Given the description of an element on the screen output the (x, y) to click on. 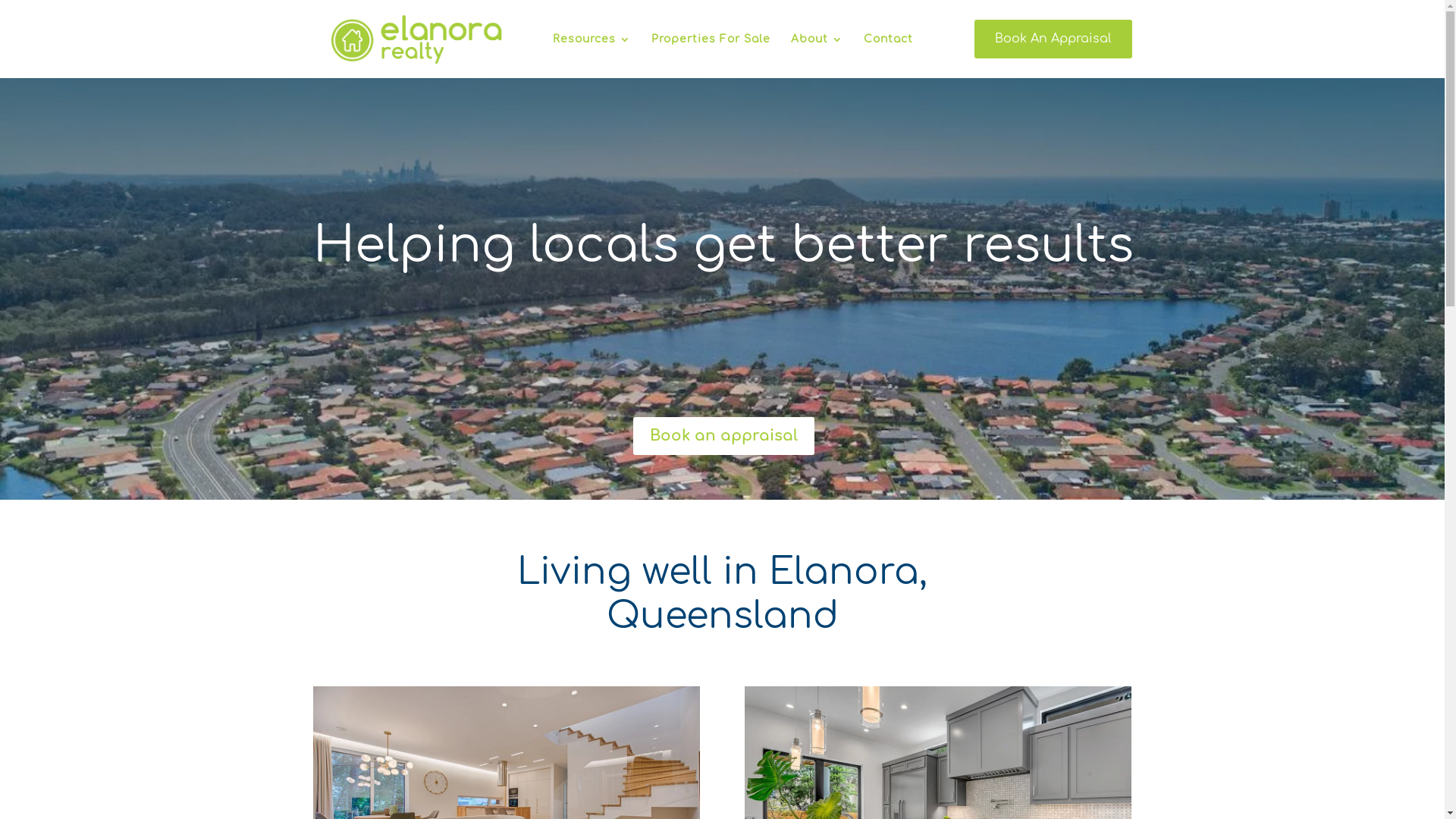
Book An Appraisal Element type: text (1052, 48)
About Element type: text (816, 49)
Resources Element type: text (591, 49)
Properties For Sale Element type: text (709, 49)
Contact Element type: text (887, 49)
Book an appraisal Element type: text (722, 436)
